Given the description of an element on the screen output the (x, y) to click on. 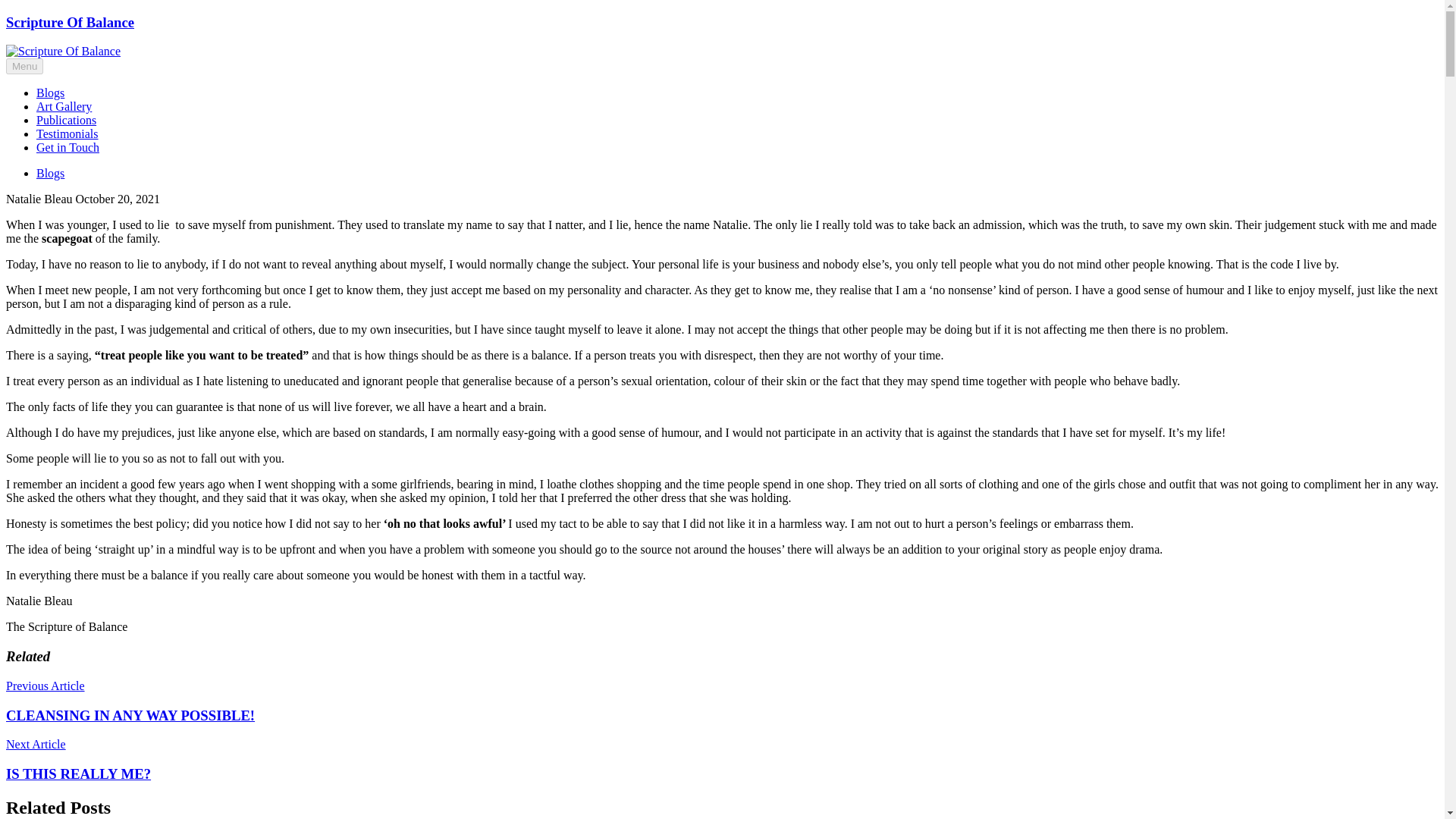
Publications (66, 119)
Menu (24, 66)
Blogs (50, 173)
Get in Touch (67, 146)
Blogs (50, 92)
Testimonials (67, 133)
Art Gallery (63, 106)
